Given the description of an element on the screen output the (x, y) to click on. 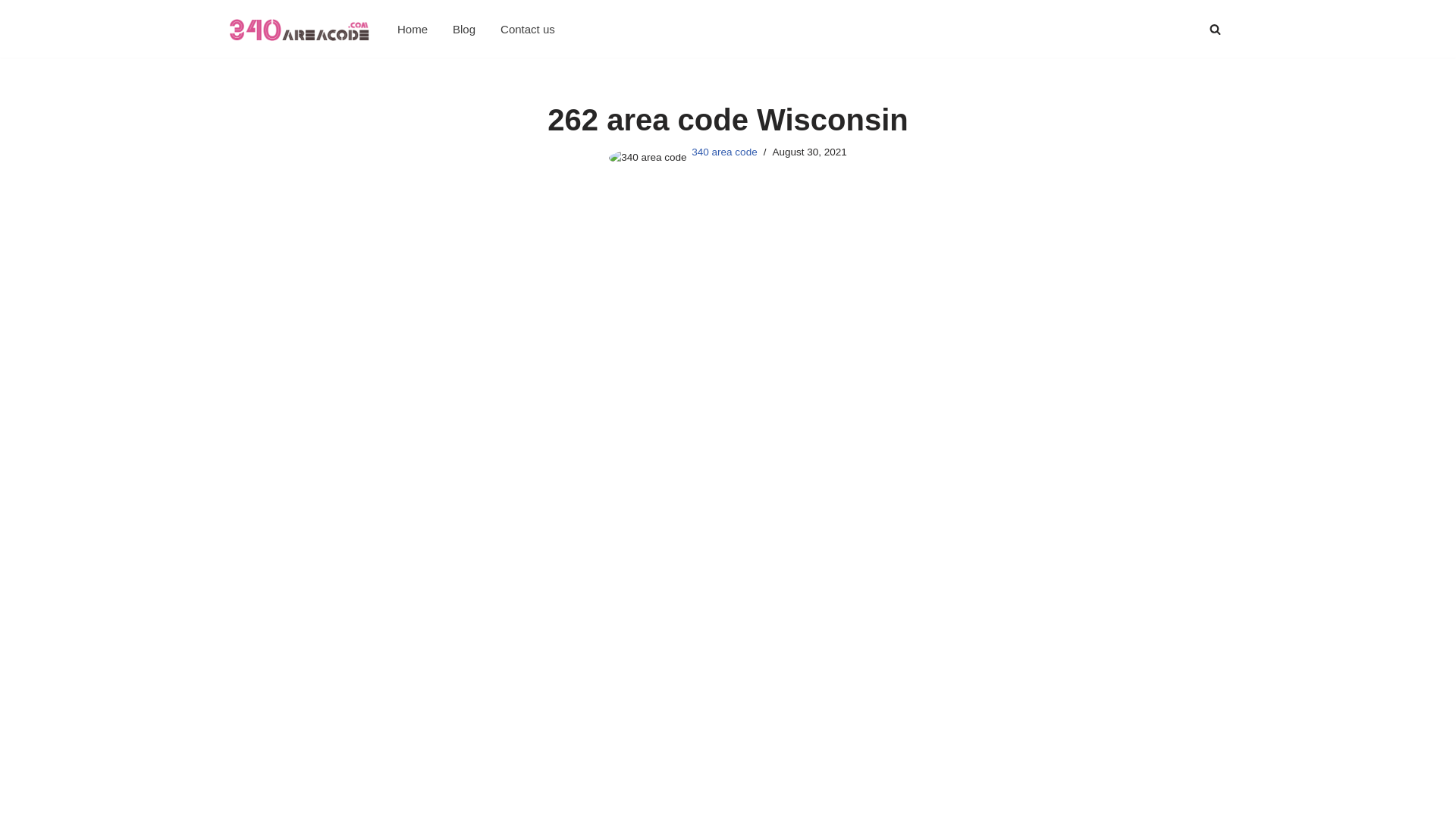
Contact us Element type: text (527, 28)
Neve Element type: text (240, 799)
340 Area Code | Virgin Islands Phone Area Code Element type: hover (299, 28)
Blog Element type: text (463, 28)
Skip to content Element type: text (11, 31)
340 area code Element type: text (723, 151)
Home Element type: text (412, 28)
WordPress Element type: text (354, 799)
